Given the description of an element on the screen output the (x, y) to click on. 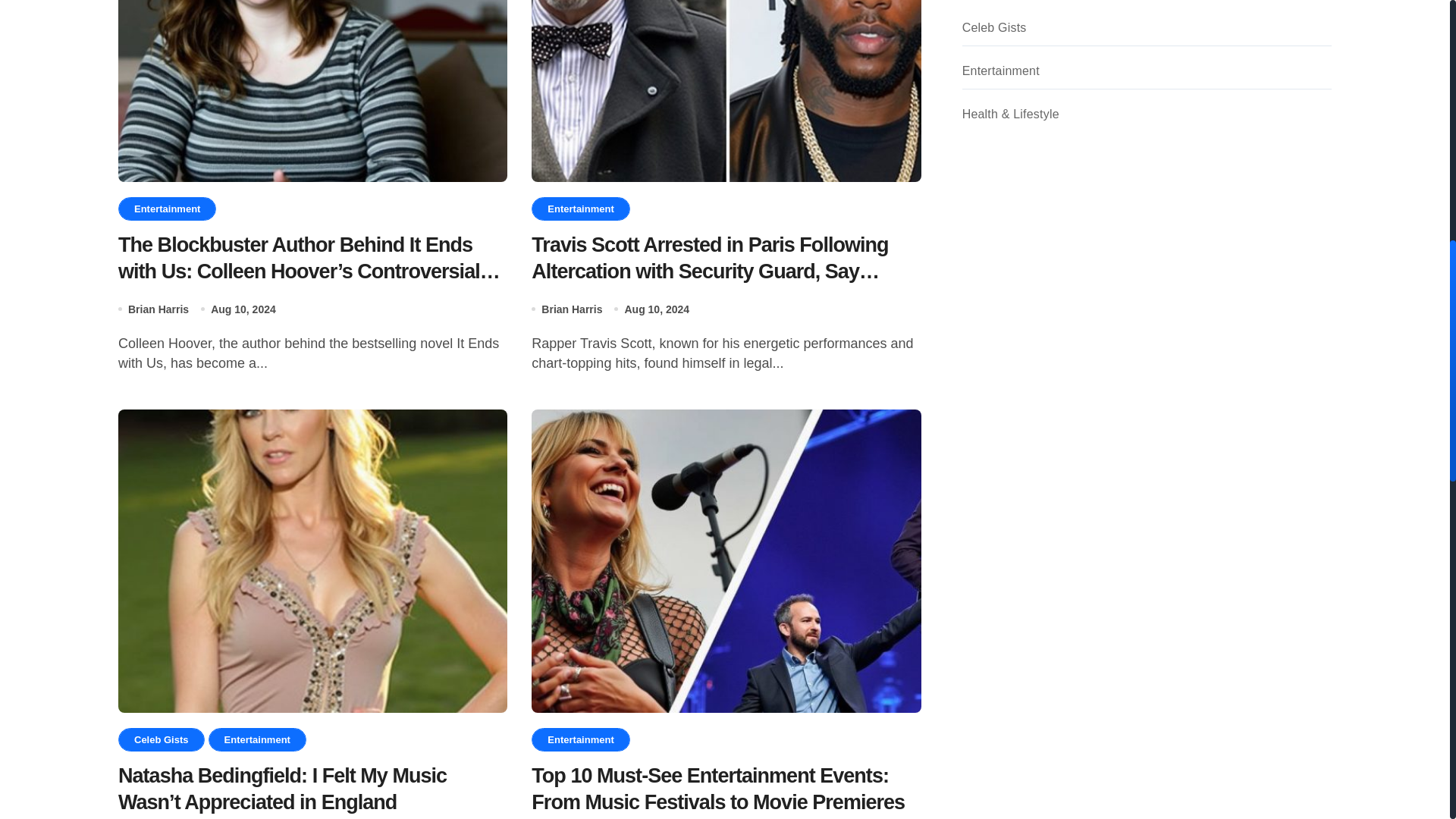
Entertainment (579, 739)
Brian Harris (571, 309)
Entertainment (256, 739)
Aug 10, 2024 (243, 309)
Entertainment (579, 208)
Aug 10, 2024 (656, 309)
Celeb Gists (161, 739)
Entertainment (166, 208)
Brian Harris (158, 309)
